Given the description of an element on the screen output the (x, y) to click on. 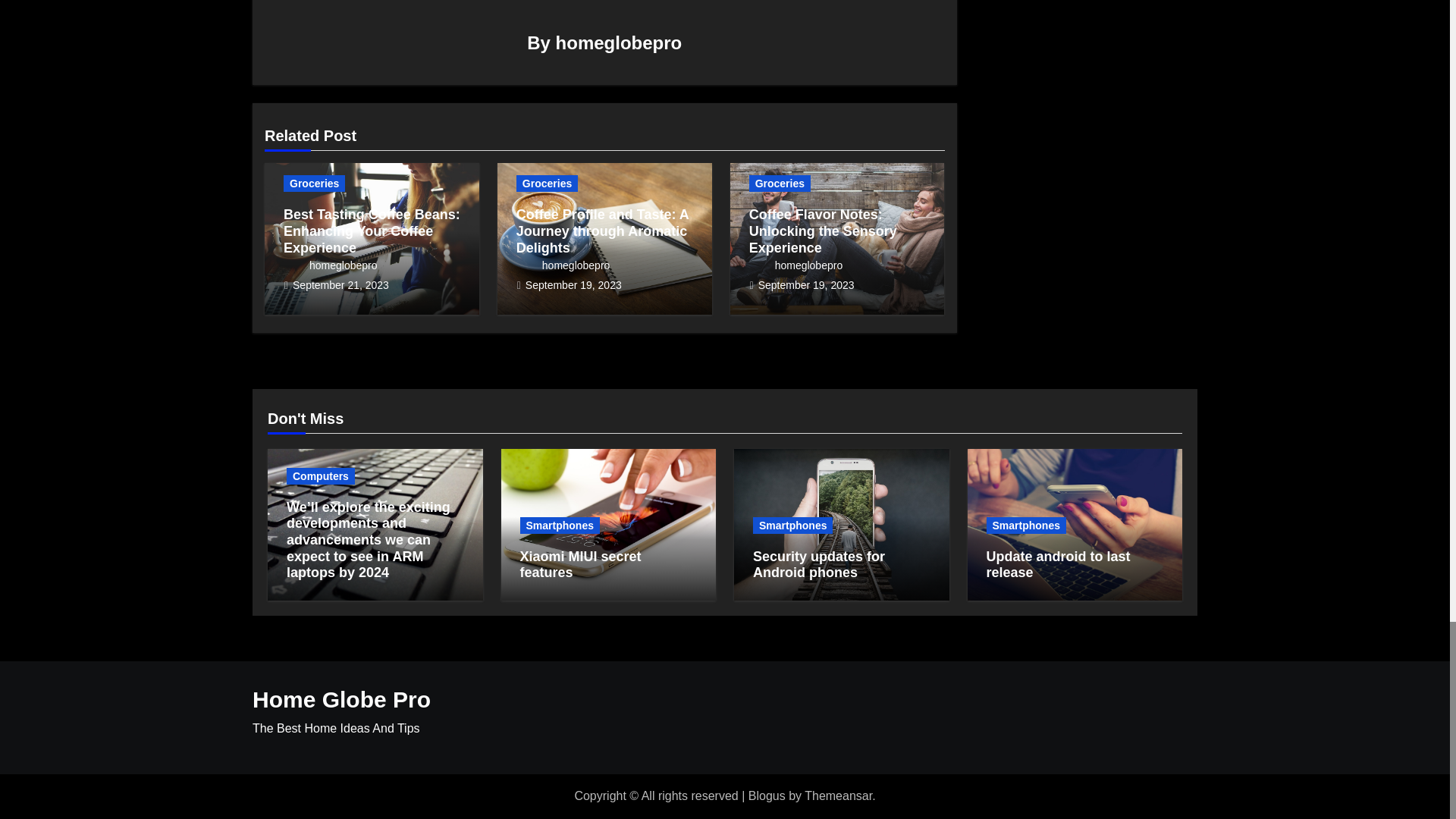
Permalink to: Update android to last release (1057, 564)
Permalink to: Xiaomi MIUI secret features (580, 564)
Groceries (547, 183)
homeglobepro (619, 42)
September 21, 2023 (340, 285)
homeglobepro (330, 265)
Best Tasting Coffee Beans: Enhancing Your Coffee Experience (371, 230)
Groceries (314, 183)
